Given the description of an element on the screen output the (x, y) to click on. 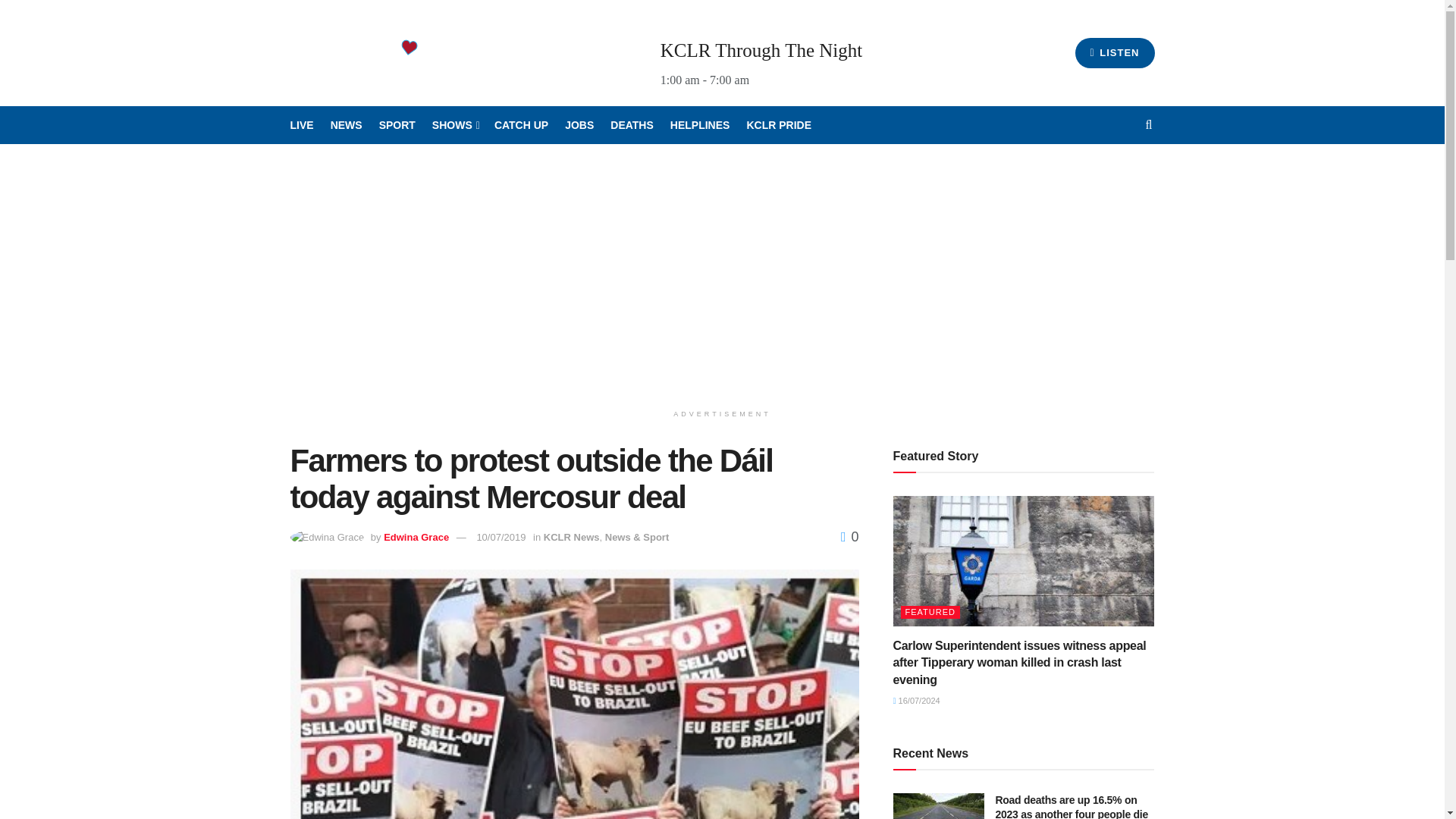
SHOWS (454, 125)
KCLR PRIDE (777, 125)
DEATHS (631, 125)
SPORT (396, 125)
LISTEN (1114, 52)
Listen back to KCLR shows (521, 125)
Carlow and Kilkenny Death Notices (631, 125)
HELPLINES (699, 125)
CATCH UP (521, 125)
KCLR Sport on Scoreline.ie (396, 125)
